Given the description of an element on the screen output the (x, y) to click on. 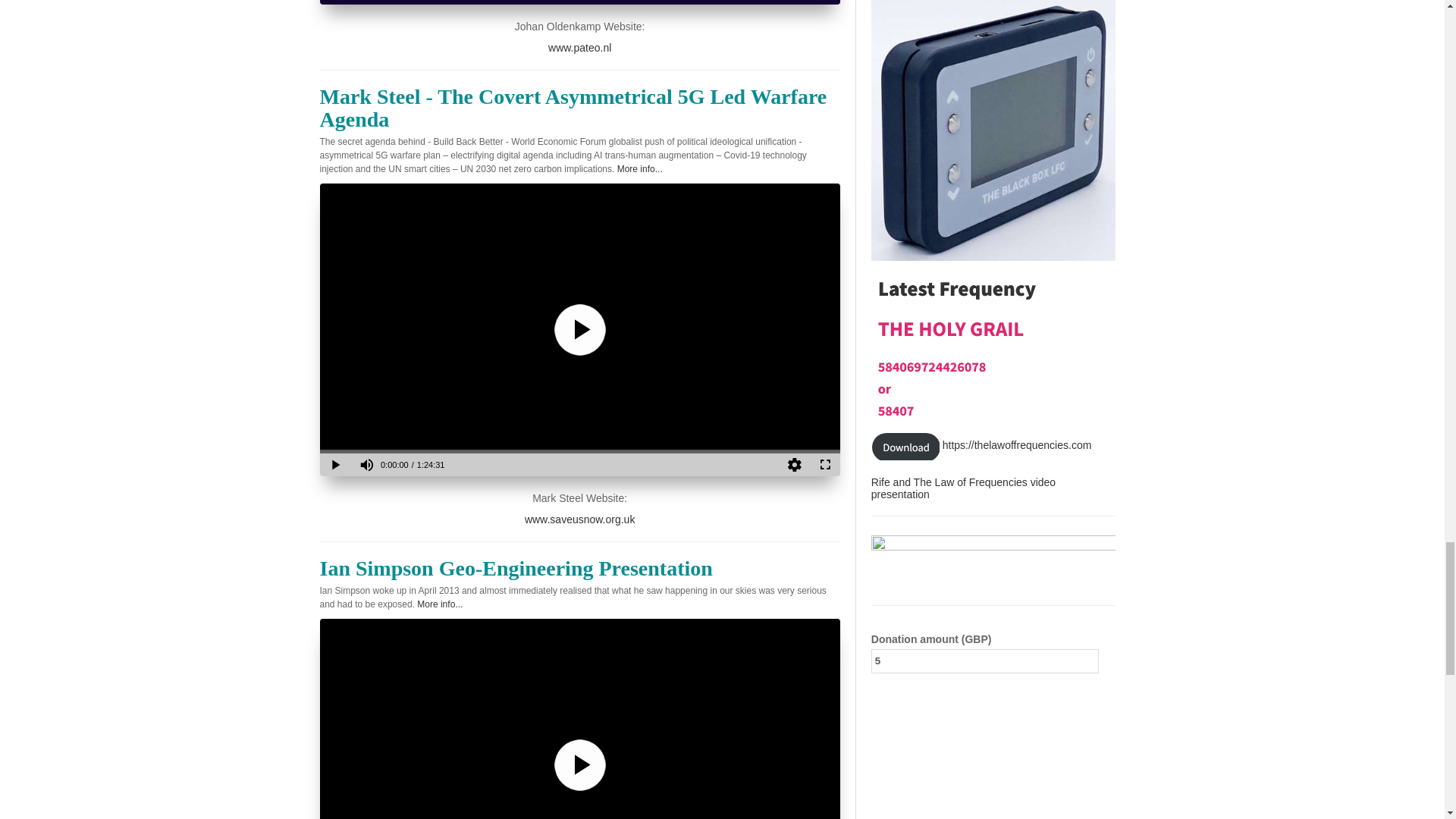
More info... (639, 168)
www.saveusnow.org.uk (579, 519)
5 (984, 661)
www.pateo.nl (579, 47)
More info... (439, 603)
